Given the description of an element on the screen output the (x, y) to click on. 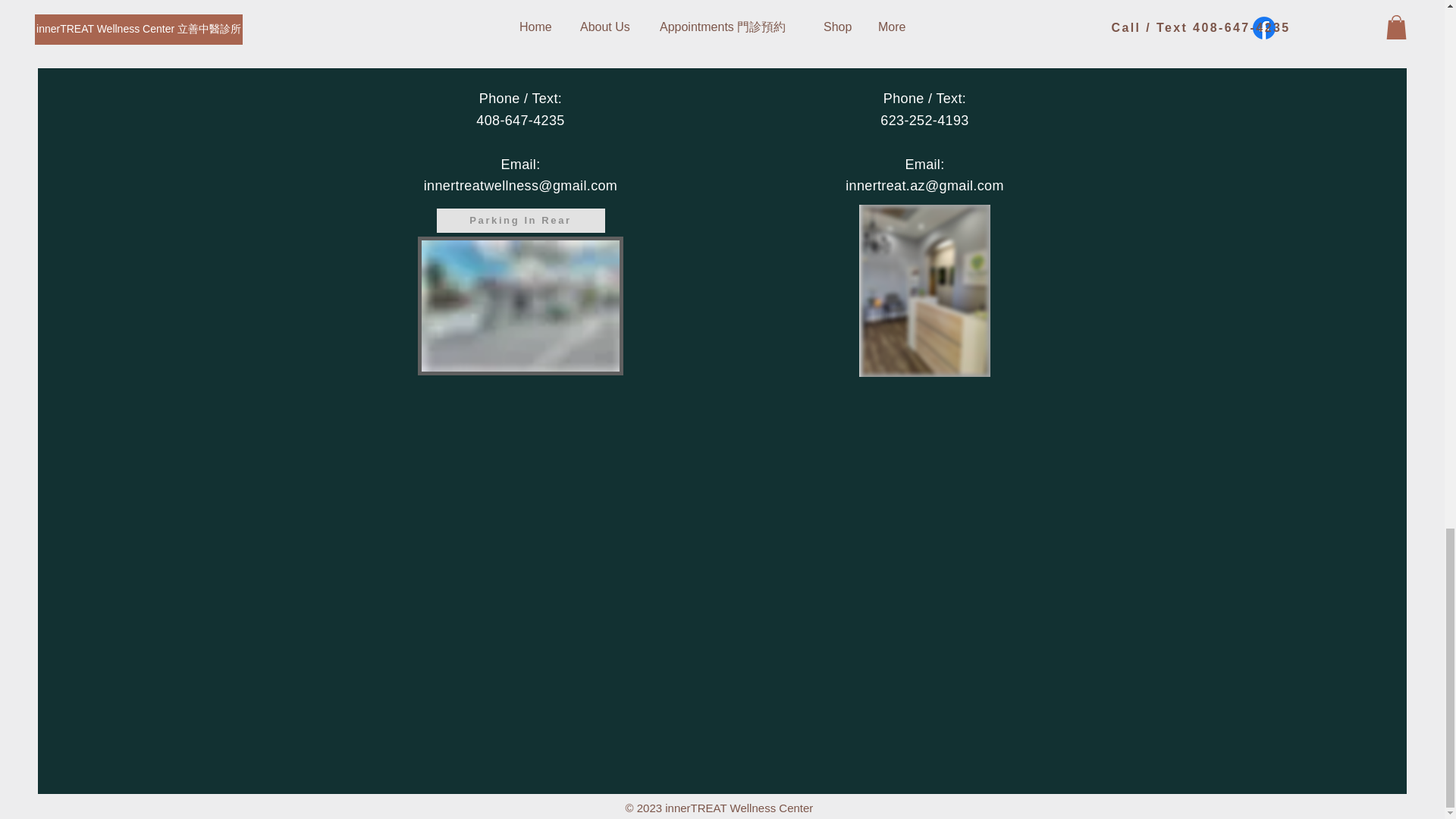
Location.jpg (519, 305)
Parking In Rear (520, 220)
